Given the description of an element on the screen output the (x, y) to click on. 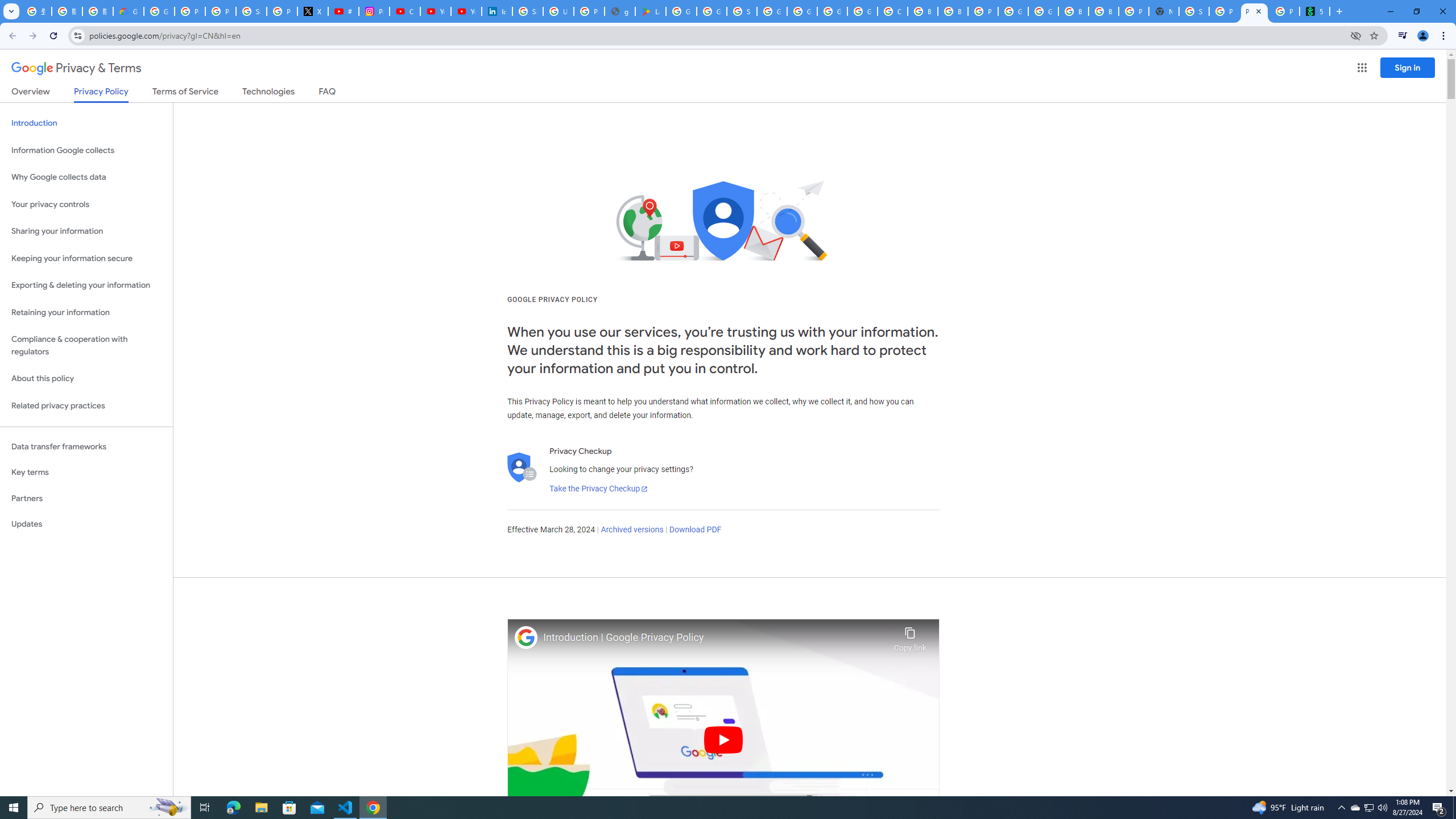
Browse Chrome as a guest - Computer - Google Chrome Help (1072, 11)
Browse Chrome as a guest - Computer - Google Chrome Help (1103, 11)
Retaining your information (86, 312)
Privacy & Terms (76, 68)
Google Cloud Platform (1012, 11)
google_privacy_policy_en.pdf (619, 11)
Google Cloud Platform (832, 11)
Technologies (268, 93)
Google Workspace - Specific Terms (711, 11)
